Given the description of an element on the screen output the (x, y) to click on. 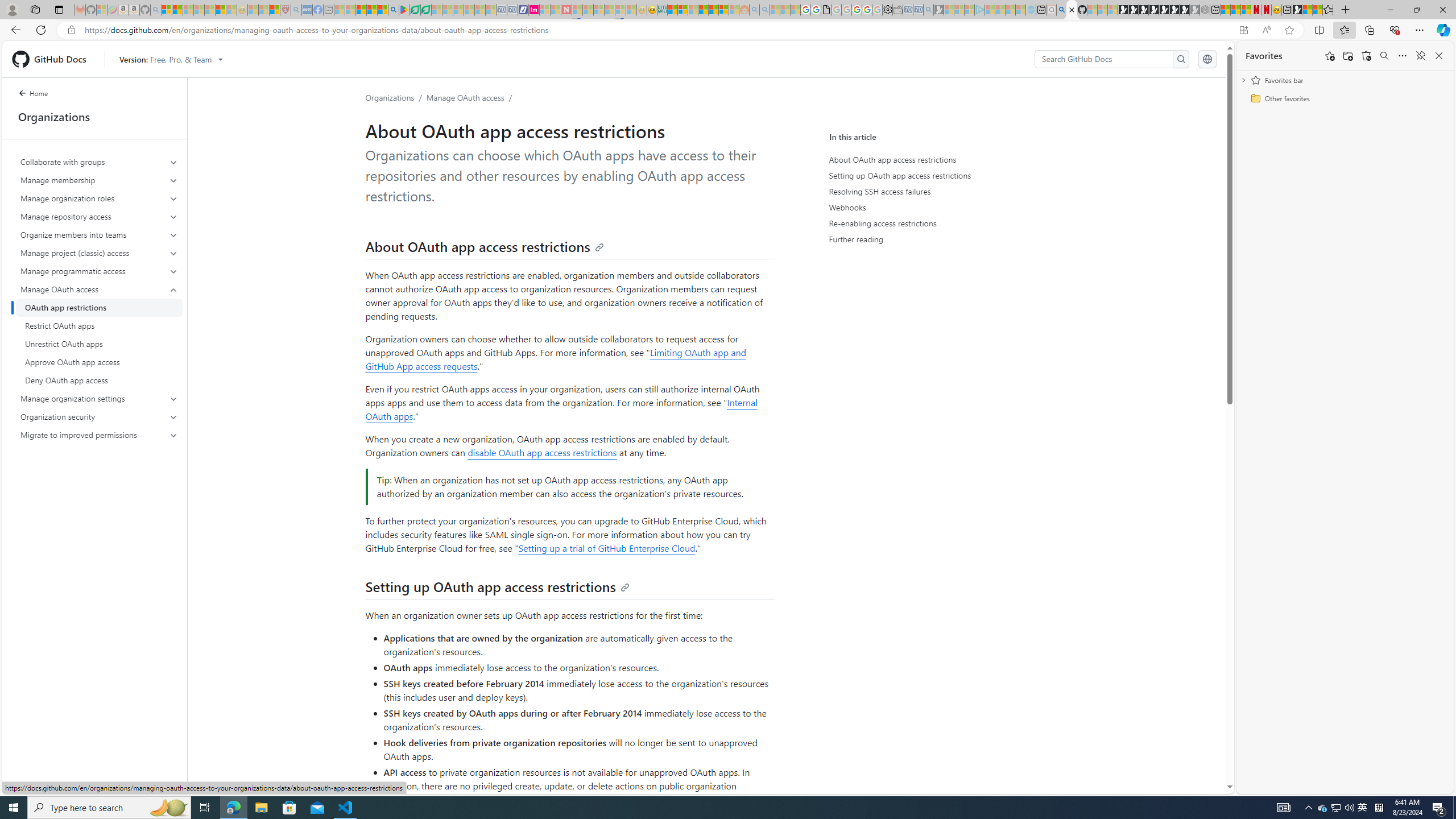
Search favorites (1383, 55)
Local - MSN (274, 9)
Manage project (classic) access (99, 253)
Manage membership (99, 180)
Organization security (99, 416)
Setting up OAuth app access restrictions (933, 175)
Manage project (classic) access (99, 253)
